Given the description of an element on the screen output the (x, y) to click on. 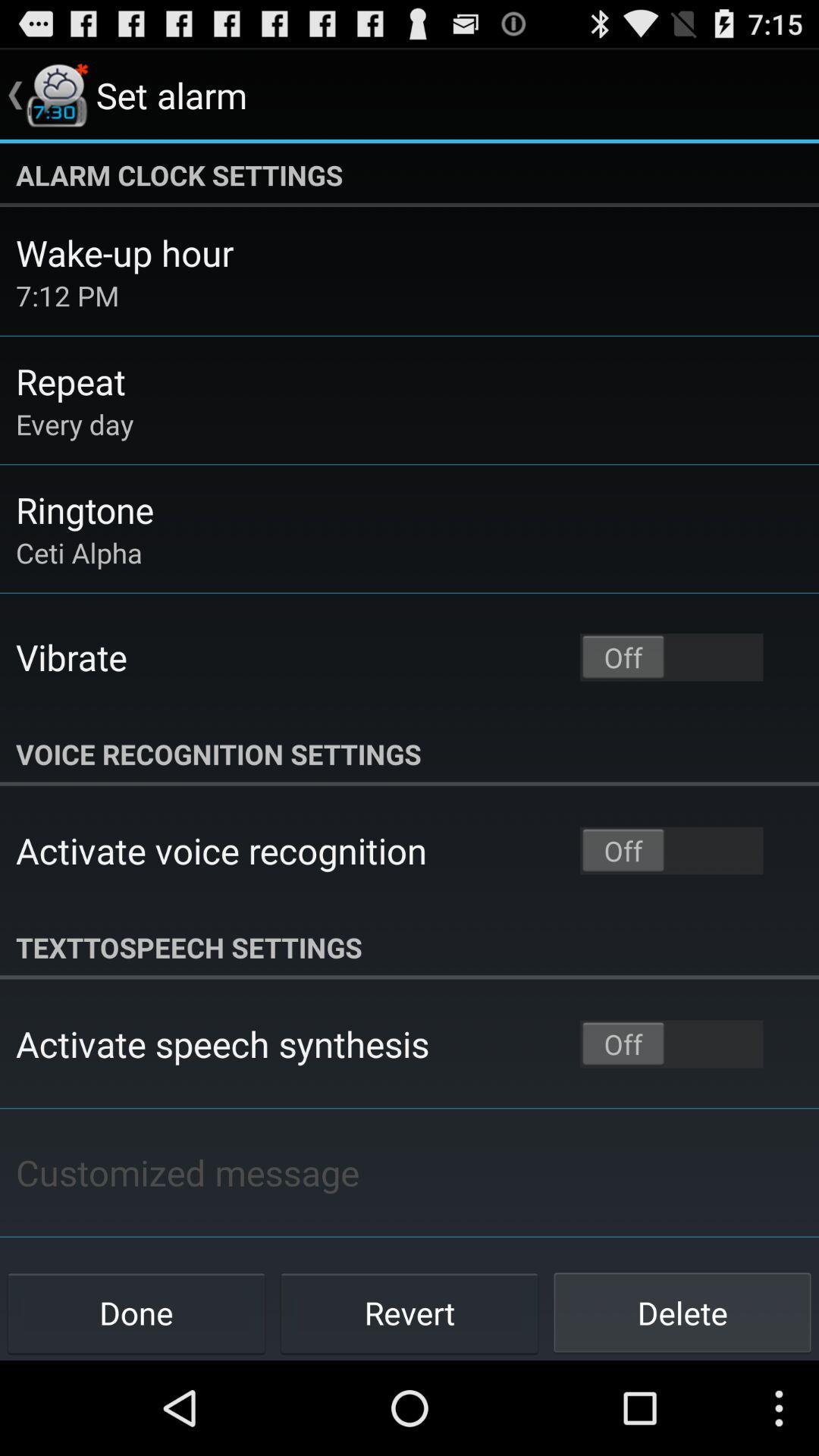
press icon below texttospeech settings icon (222, 1043)
